Given the description of an element on the screen output the (x, y) to click on. 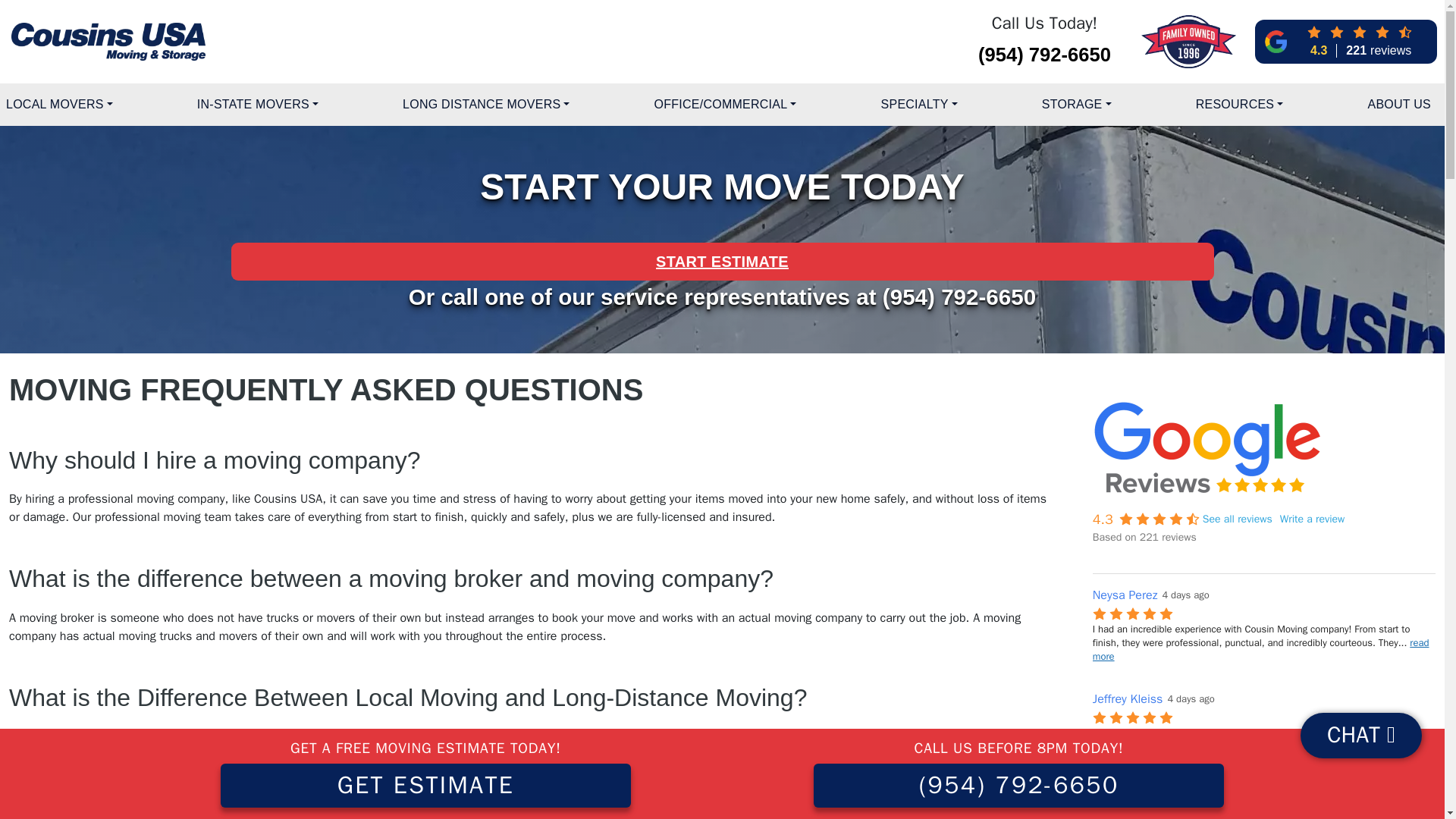
IN-STATE MOVERS (257, 104)
LOCAL MOVERS (59, 104)
LONG DISTANCE MOVERS (485, 104)
Long Distance Movers (485, 104)
Local Movers (59, 104)
In-State Movers (257, 104)
